Given the description of an element on the screen output the (x, y) to click on. 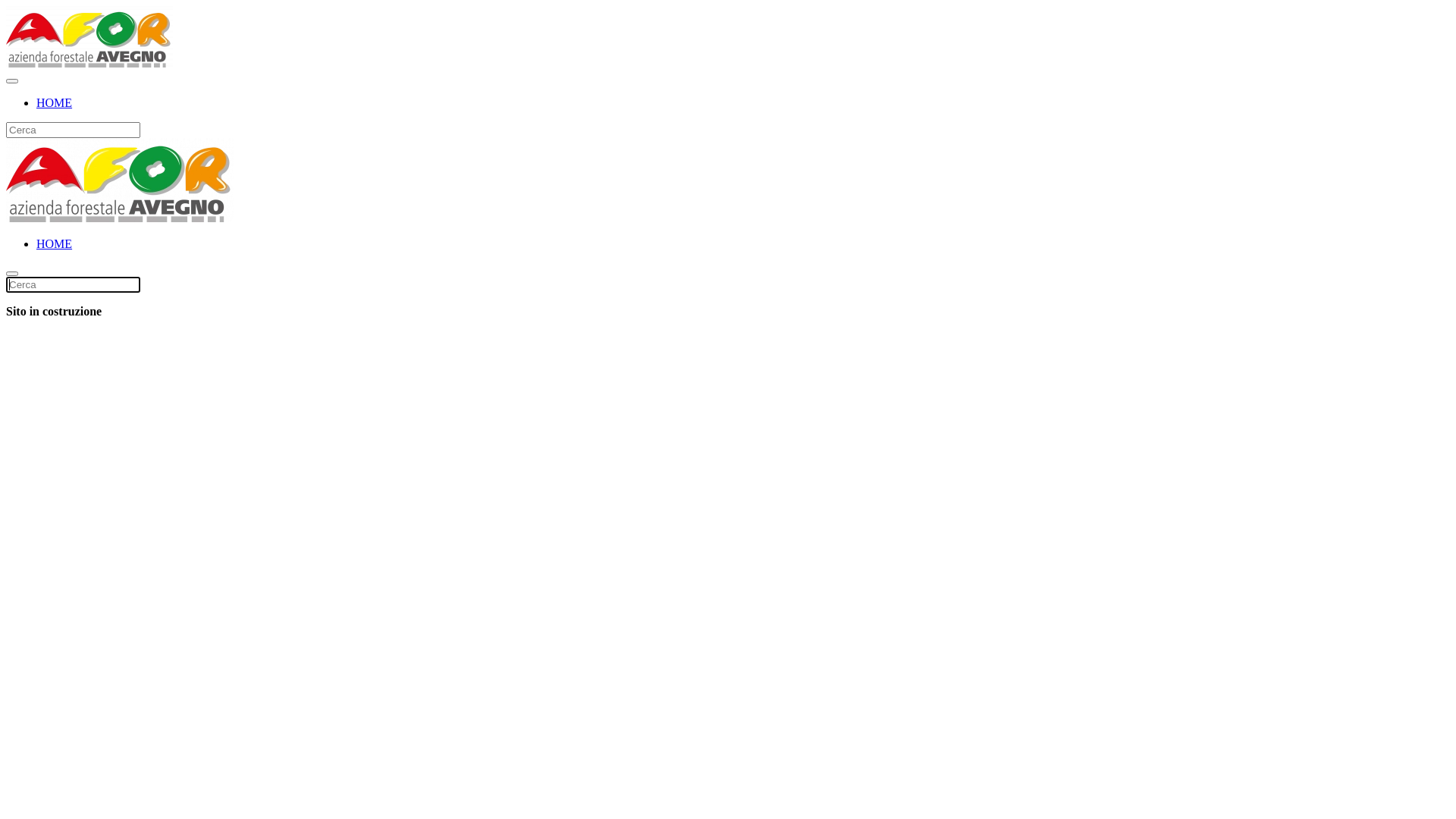
HOME Element type: text (54, 243)
HOME Element type: text (54, 102)
